Given the description of an element on the screen output the (x, y) to click on. 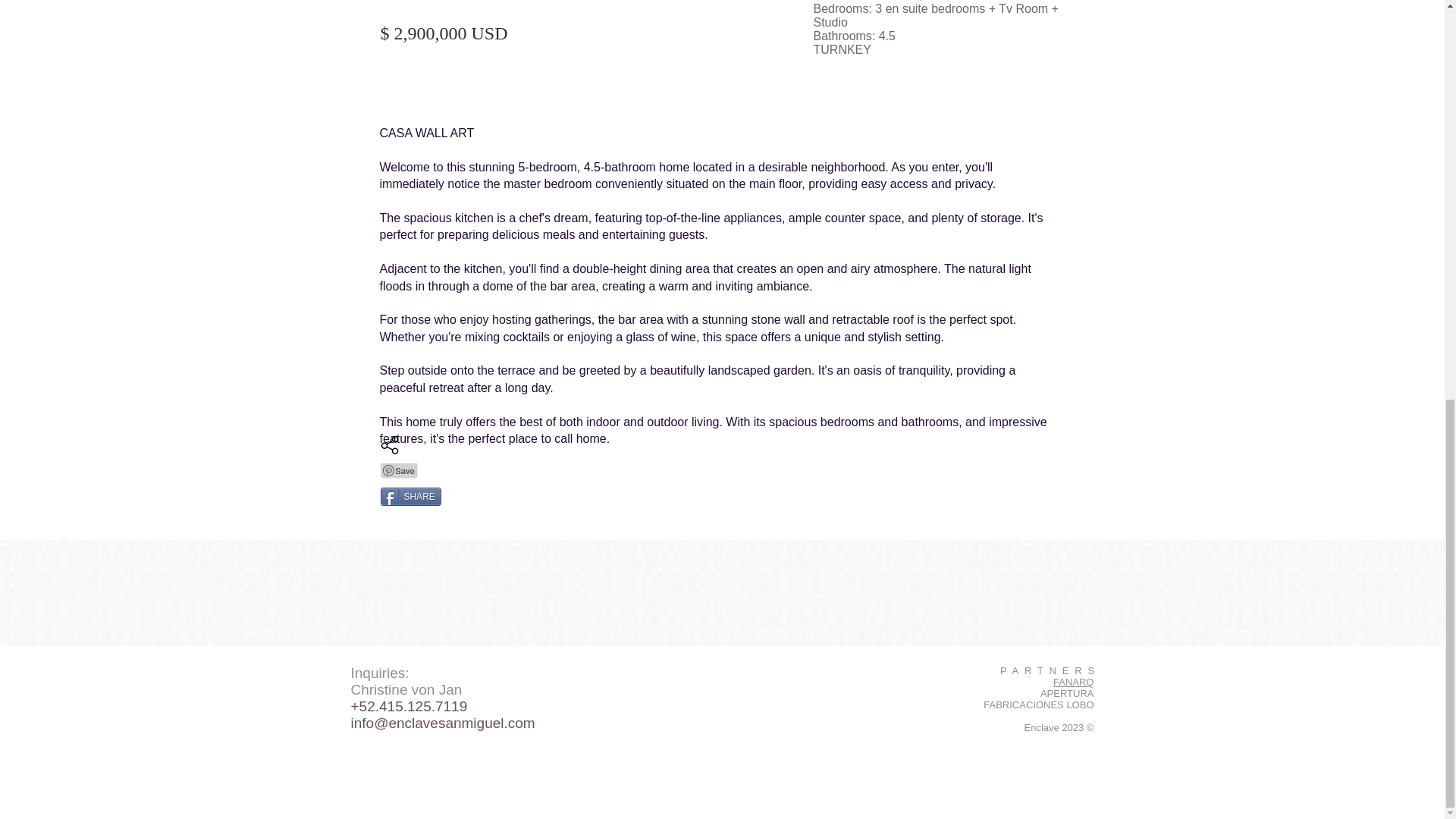
FANARQ (1072, 681)
Pin to Pinterest (399, 470)
SHARE (410, 496)
SHARE (410, 496)
Twitter Tweet (405, 522)
